Given the description of an element on the screen output the (x, y) to click on. 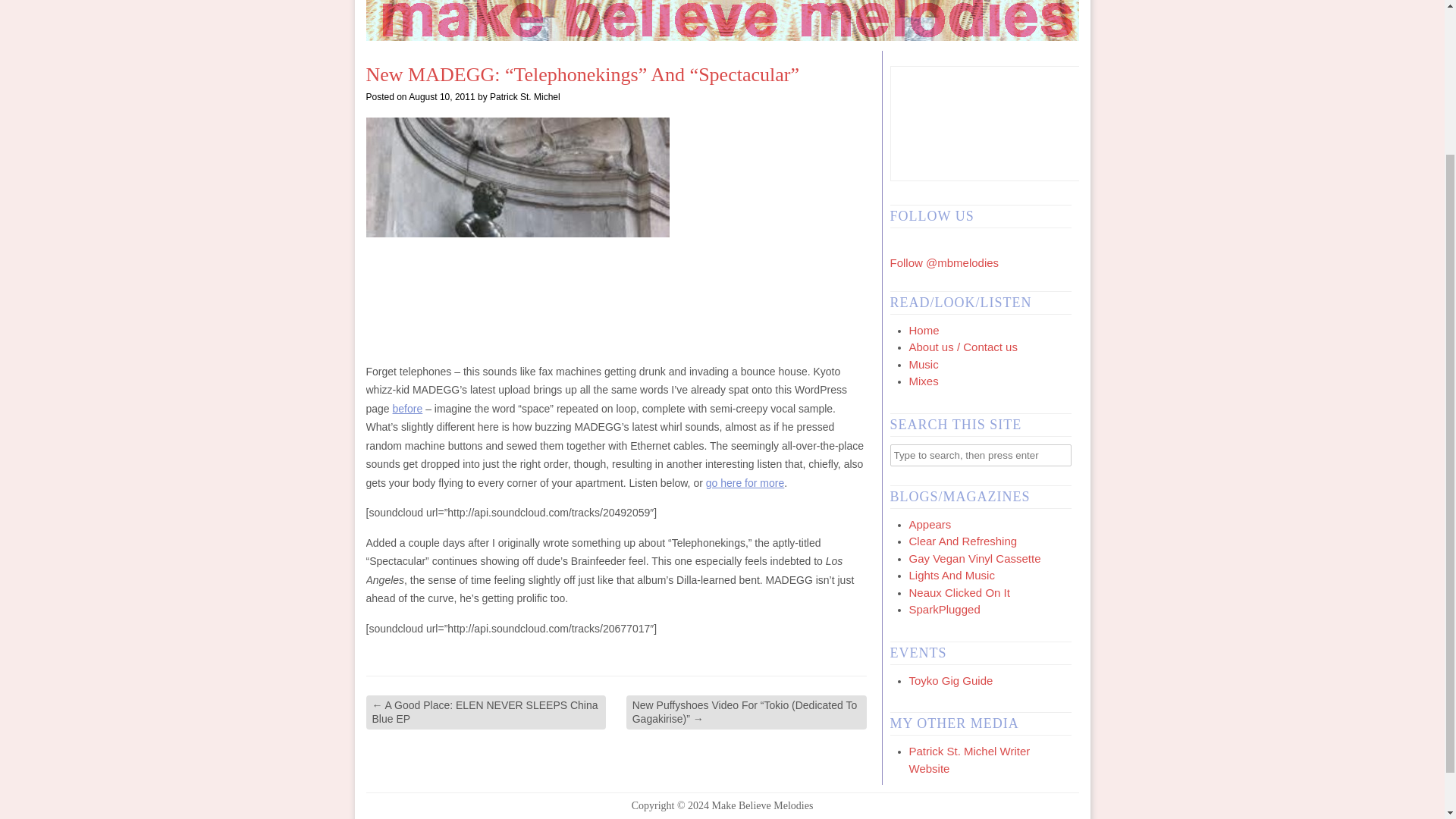
Lights And Music (951, 574)
Type to search, then press enter (980, 454)
Toyko Gig Guide (950, 680)
Home (923, 329)
before (408, 408)
Appears (929, 523)
View all posts by Patrick St. Michel (524, 96)
Mixes (922, 380)
Neaux Clicked On It (958, 592)
Patrick St. Michel (524, 96)
